Given the description of an element on the screen output the (x, y) to click on. 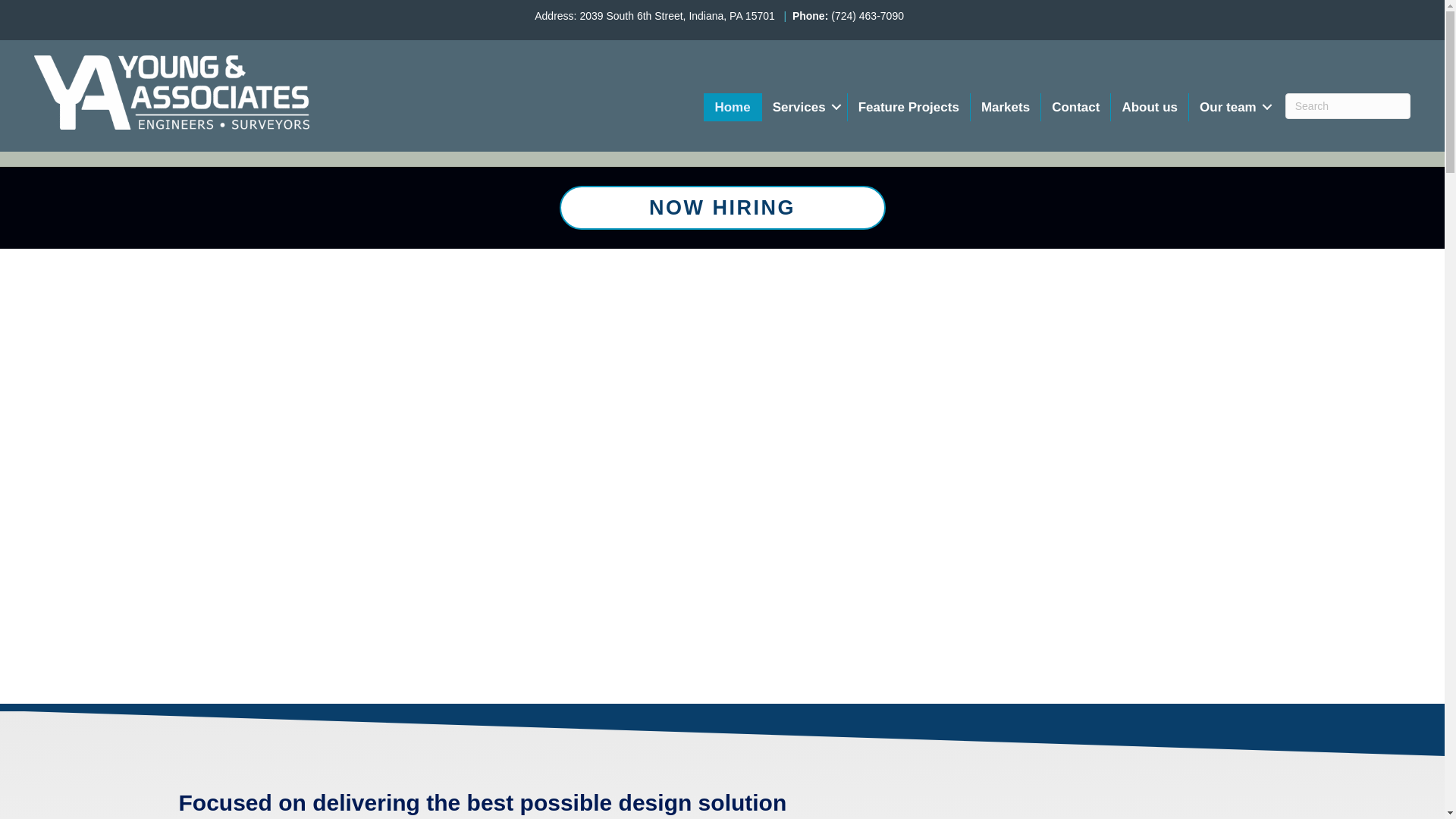
NOW HIRING (722, 207)
Markets (1006, 106)
Services (804, 106)
Type and press Enter to search. (1347, 104)
Our team (1233, 106)
Home (731, 106)
Feature Projects (908, 106)
About us (1149, 106)
YA-logo-final-white (170, 91)
Contact (1075, 106)
Address: 2039 South 6th Street, Indiana, PA 15701 (654, 15)
